Given the description of an element on the screen output the (x, y) to click on. 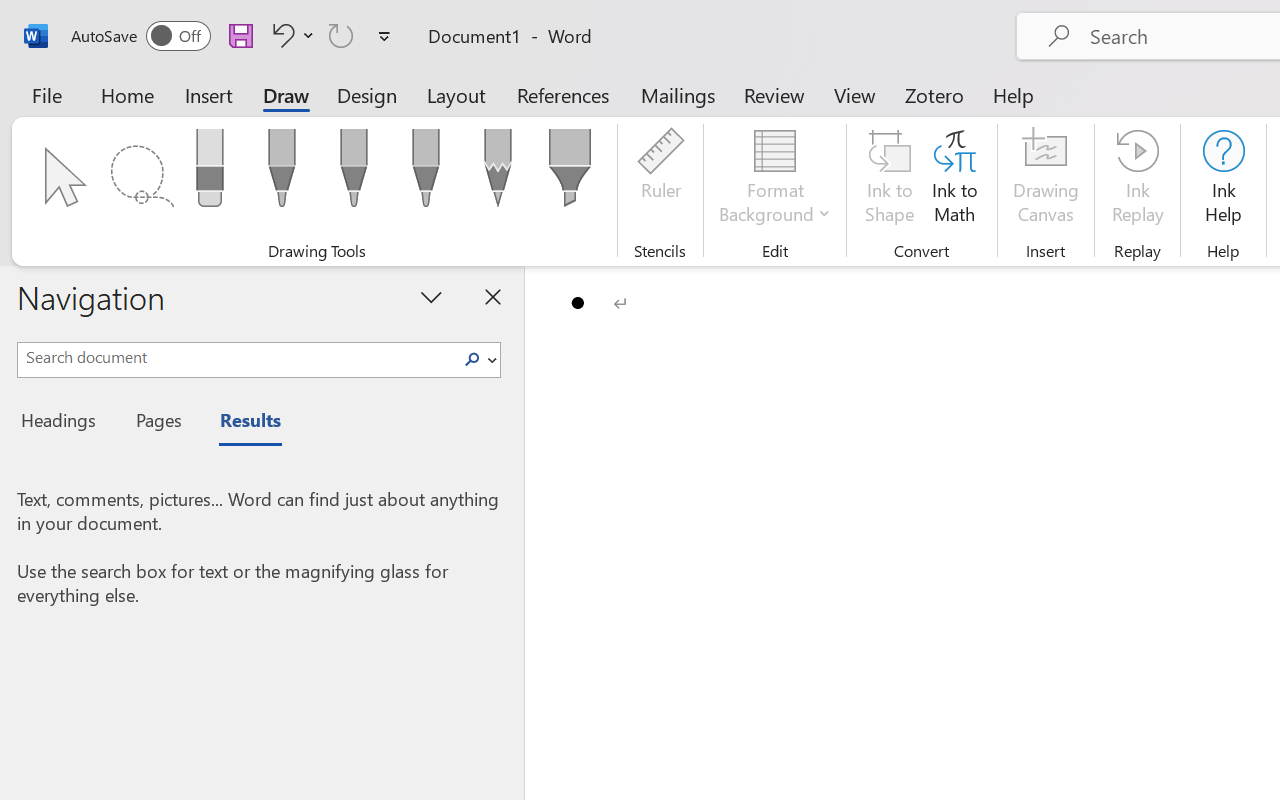
Results (240, 423)
Can't Repeat (341, 35)
Ink to Math (954, 179)
Undo Bullet Default (280, 35)
Format Background (774, 179)
Pages (156, 423)
